Given the description of an element on the screen output the (x, y) to click on. 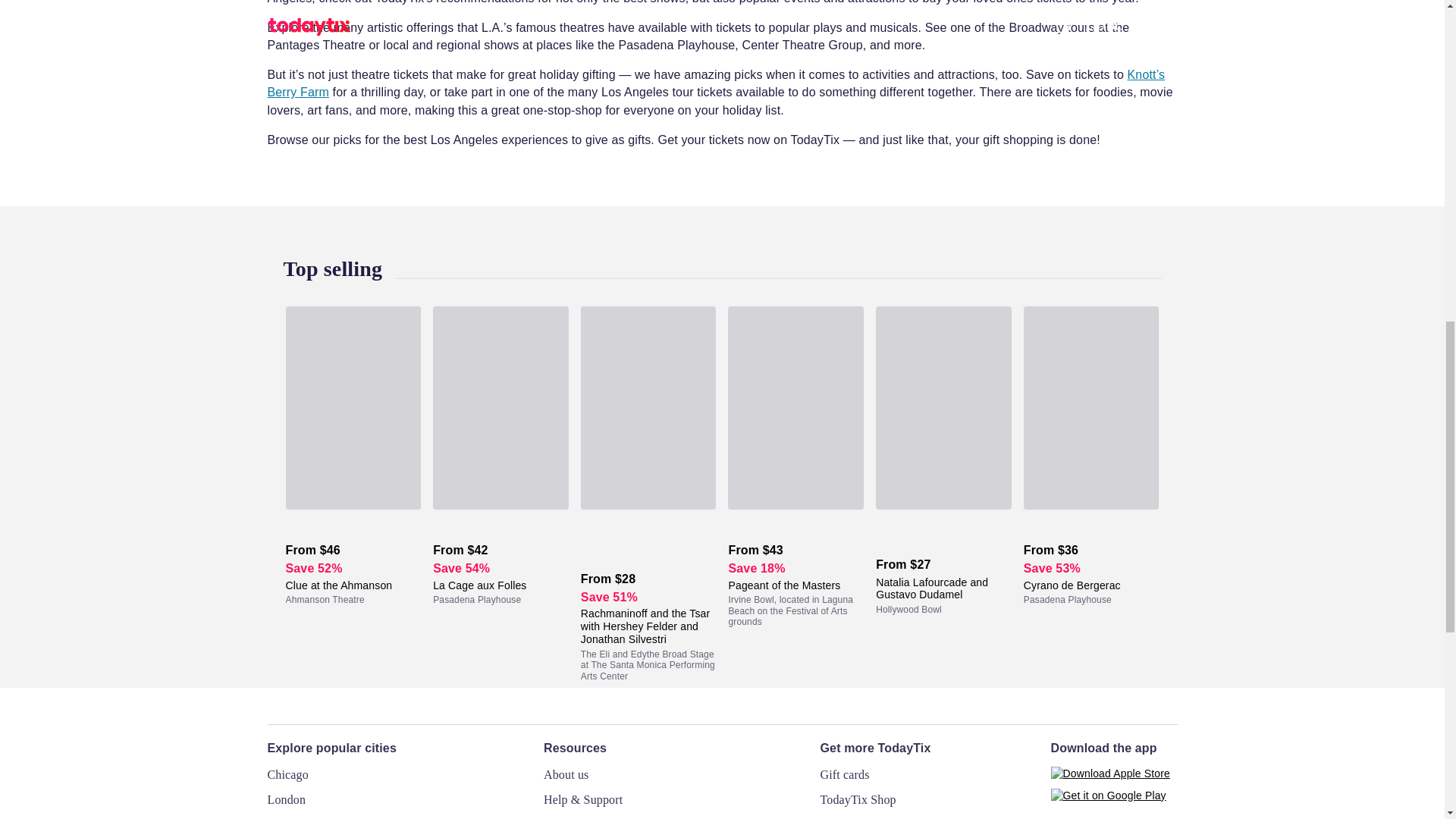
TodayTix Shop (858, 799)
About us (565, 774)
London (285, 799)
Gift cards (845, 774)
Chicago (286, 774)
